Given the description of an element on the screen output the (x, y) to click on. 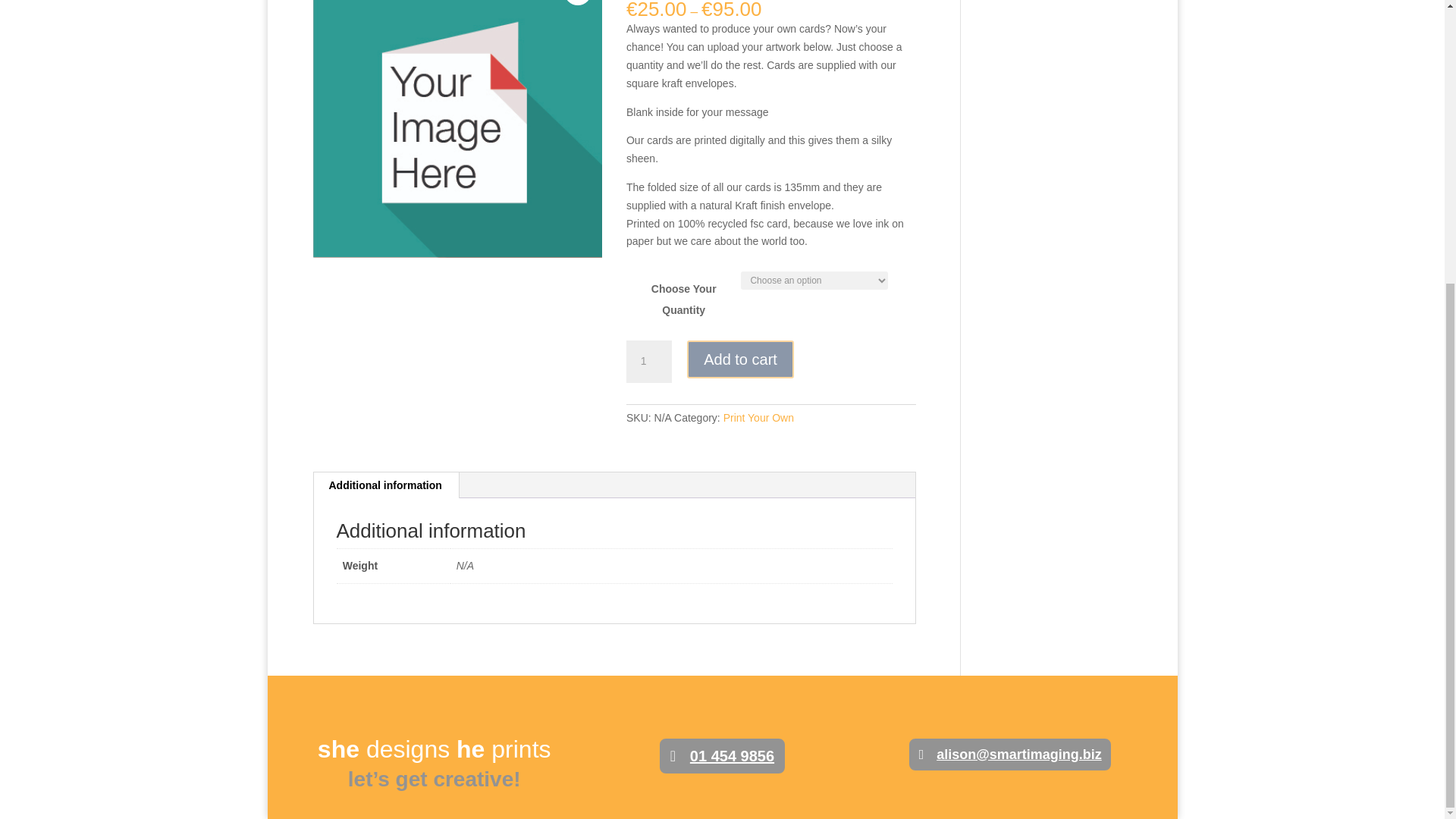
1 (648, 361)
your-own-cards.jpg (457, 129)
